Given the description of an element on the screen output the (x, y) to click on. 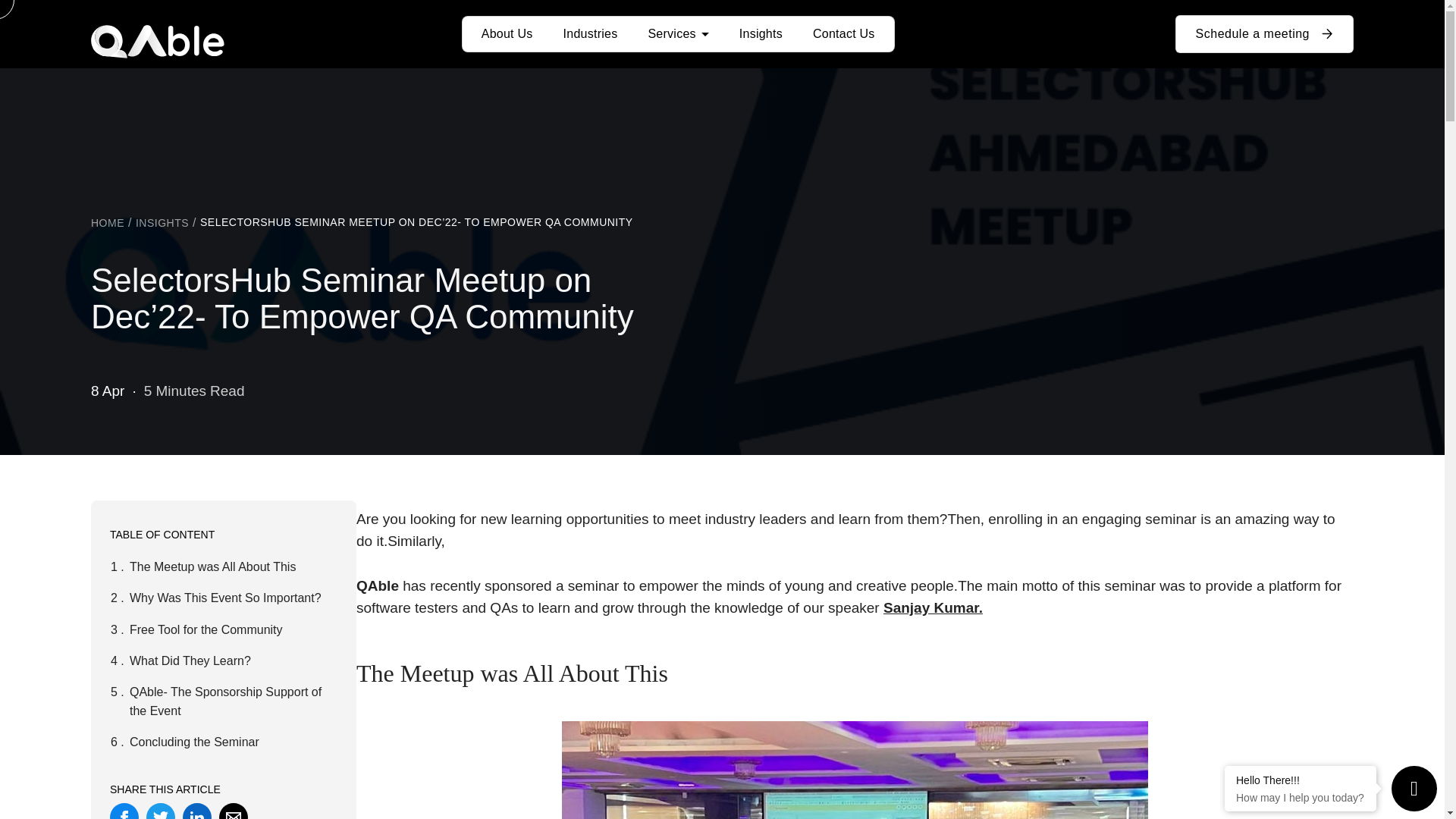
Industries (590, 33)
Share on LinkedIn (197, 811)
Insights (760, 33)
Contact Us (843, 33)
Share on Facebook (124, 811)
Services (677, 33)
About Us (507, 33)
Tweet (160, 811)
Schedule a meeting (1264, 34)
Email (233, 811)
